Given the description of an element on the screen output the (x, y) to click on. 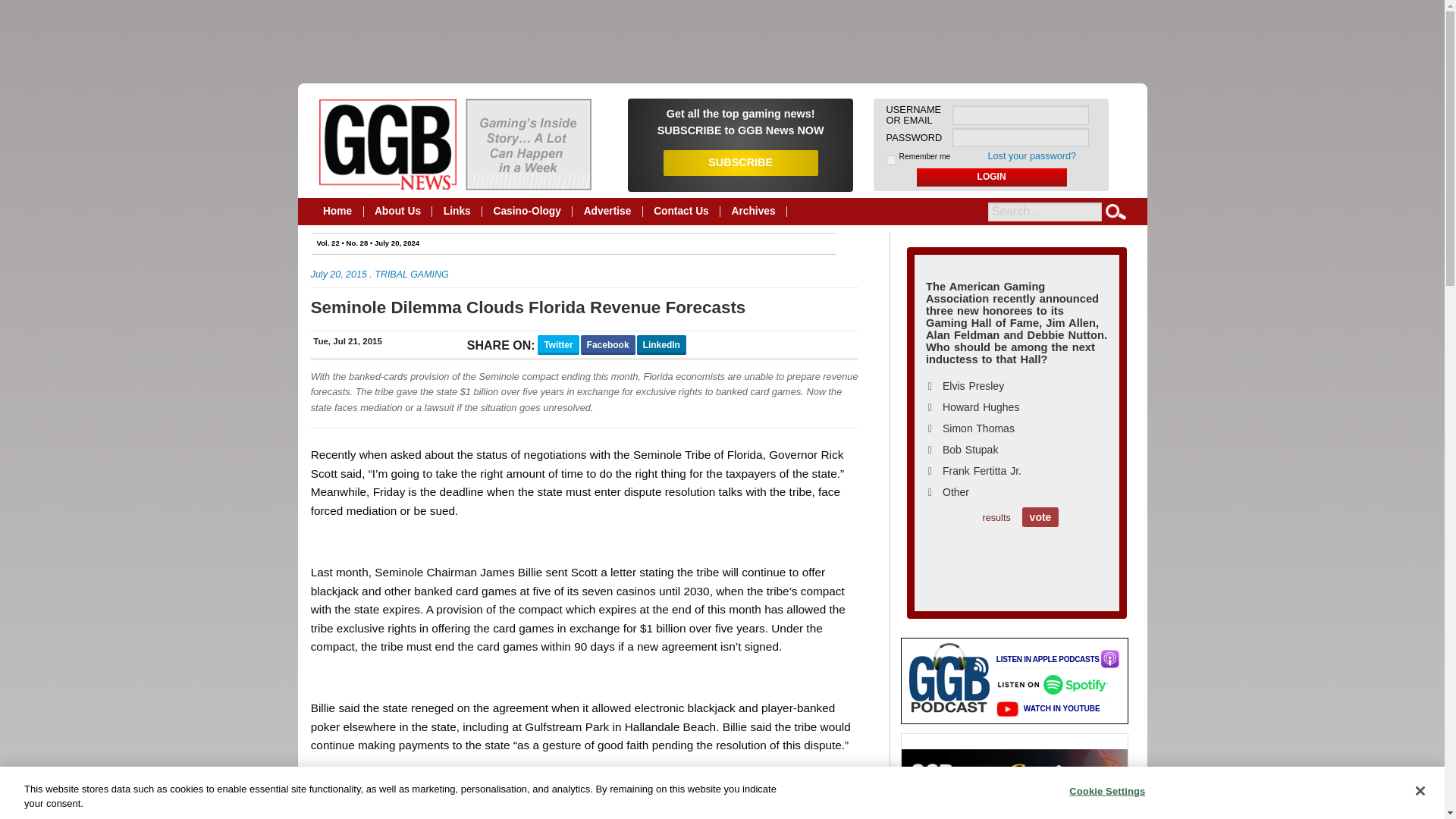
Login (992, 177)
Advertise (607, 211)
LinkedIn (661, 344)
Links (456, 211)
Twitter (557, 344)
Get all the top gaming news! SUBSCRIBE to GGB News NOW (741, 121)
LISTEN IN APPLE PODCASTS (1057, 659)
1 (891, 160)
GGB Magazine Podcasts on Spotify (1057, 687)
Subscribe (741, 121)
TRIBAL GAMING (411, 274)
Casino-Ology (526, 211)
July 20, 2015 (338, 274)
Facebook (607, 344)
Lost your password? (1032, 155)
